Given the description of an element on the screen output the (x, y) to click on. 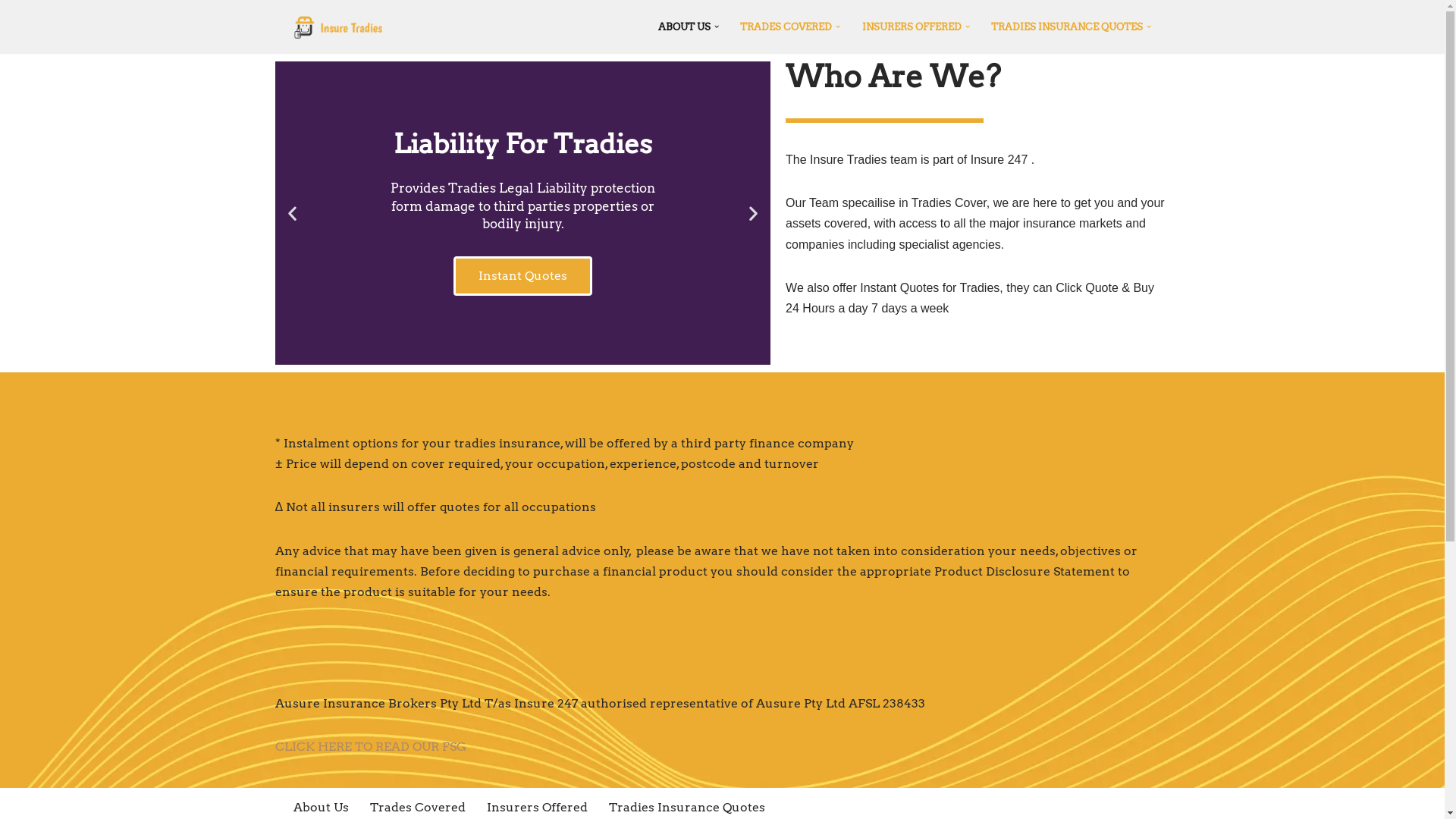
INSURERS OFFERED Element type: text (911, 26)
TRADES COVERED Element type: text (785, 26)
TRADIES INSURANCE QUOTES Element type: text (1066, 26)
Trades Covered Element type: text (417, 806)
CLICK HERE TO READ OUR FSG Element type: text (369, 746)
About Us Element type: text (320, 806)
Skip to content Element type: text (11, 31)
ABOUT US Element type: text (684, 26)
Tradies Insurance Quotes Element type: text (686, 806)
Insurers Offered Element type: text (536, 806)
